Given the description of an element on the screen output the (x, y) to click on. 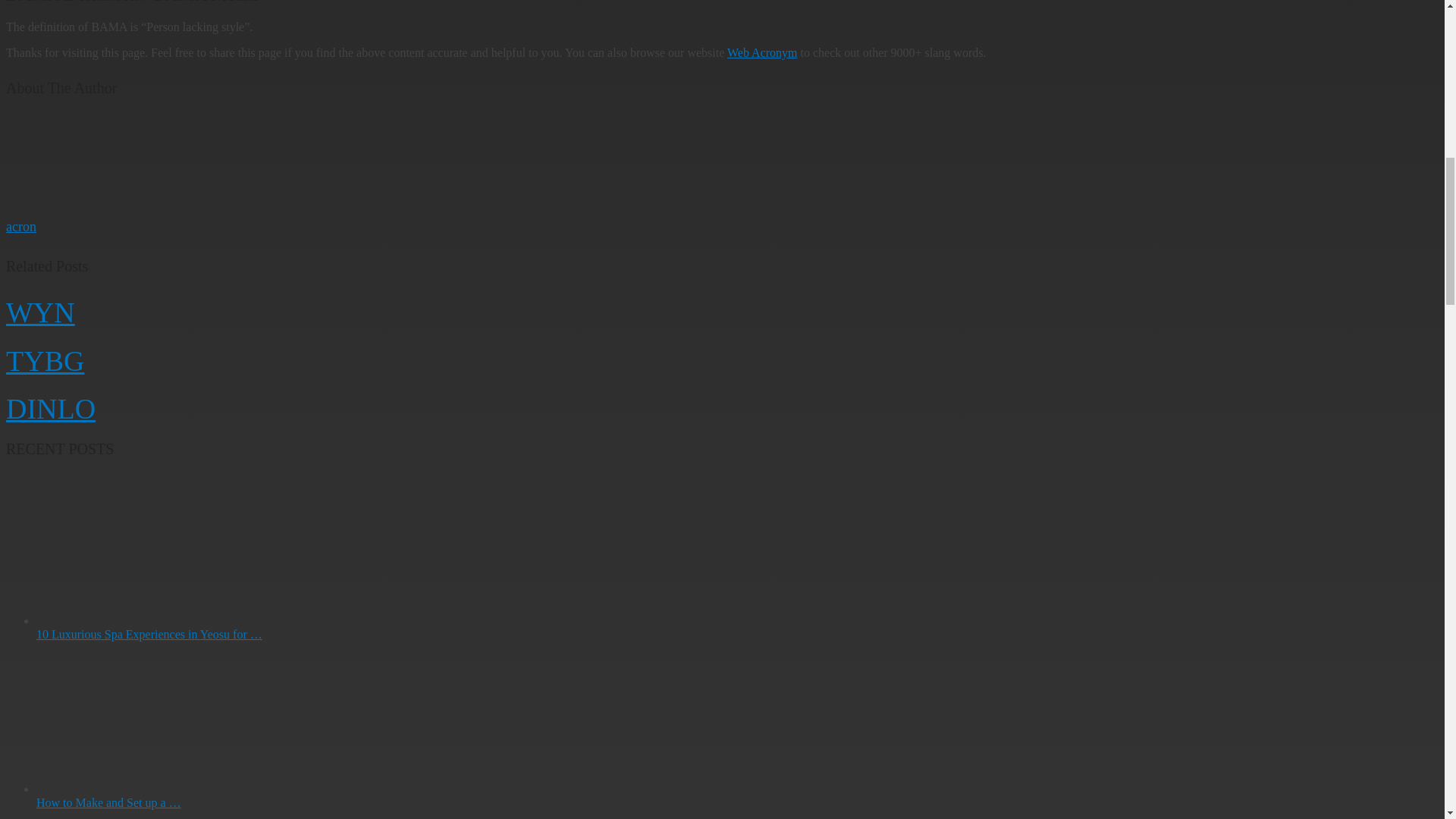
DINLO (50, 409)
Web Acronym (761, 51)
TYBG (44, 359)
DINLO (50, 409)
WYN (40, 312)
TYBG (44, 359)
WYN (40, 312)
acron (20, 226)
